Given the description of an element on the screen output the (x, y) to click on. 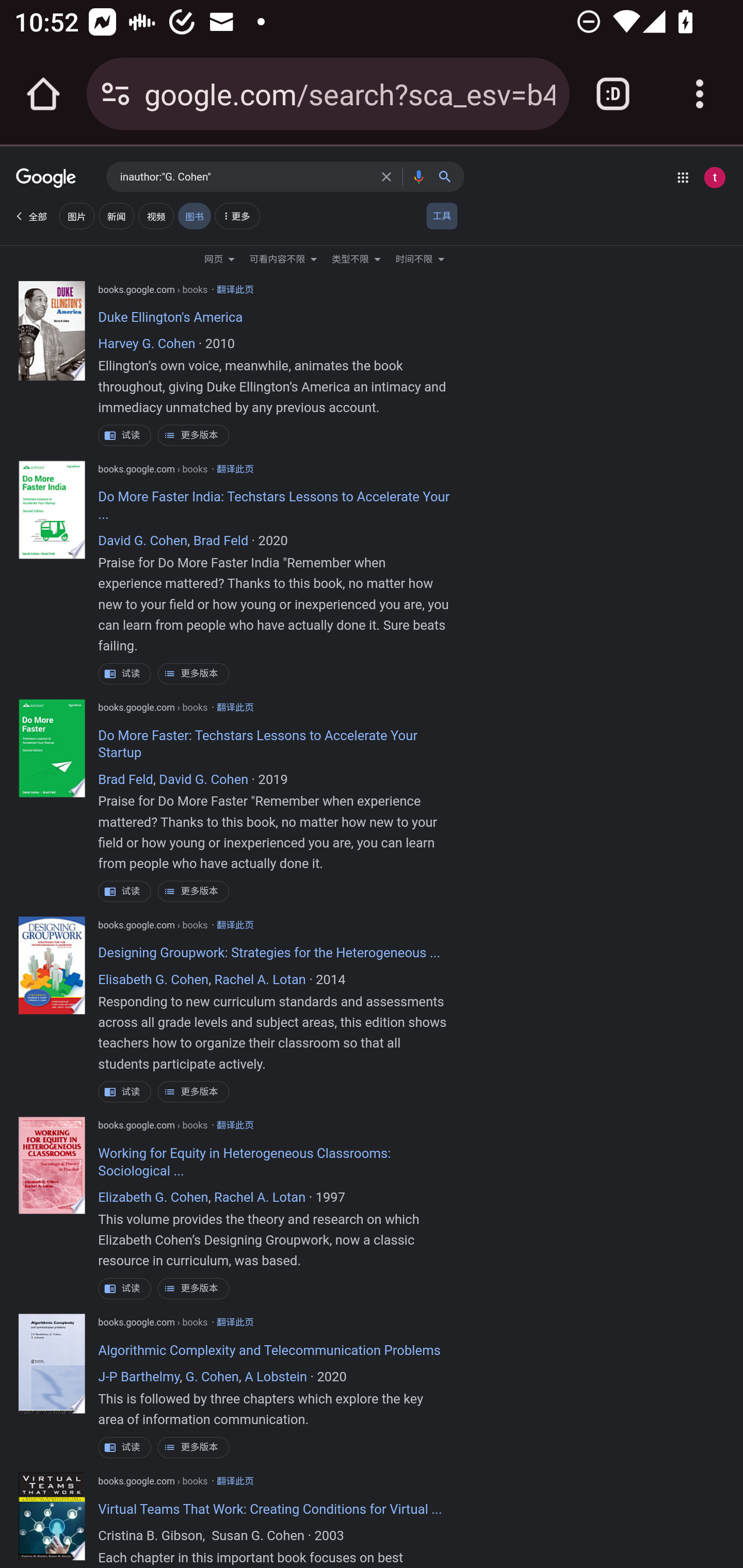
Open the home page (43, 93)
Connection is secure (115, 93)
Switch or close tabs (612, 93)
Customize and control Google Chrome (699, 93)
清除 (389, 176)
按语音搜索 (418, 176)
Google 搜索 (448, 176)
Google 应用 (682, 177)
Google 账号： test appium (testappium002@gmail.com) (714, 177)
Google Google Google (46, 179)
inauthor:"G. Cohen" (245, 177)
全部 (30, 215)
图片 (75, 215)
新闻 (116, 215)
视频 (155, 215)
More Filters (236, 217)
工具 (441, 215)
翻译此页 (235, 289)
Harvey G. Cohen (146, 344)
试读 (124, 434)
更多版本 (192, 434)
翻译此页 (235, 468)
David G. Cohen (142, 541)
Brad Feld (220, 541)
试读 (124, 673)
更多版本 (192, 673)
翻译此页 (235, 707)
Brad Feld (125, 780)
David G. Cohen (203, 780)
试读 (124, 892)
更多版本 (192, 892)
翻译此页 (235, 924)
Elisabeth G. Cohen (153, 980)
Rachel A. Lotan (259, 980)
试读 (124, 1091)
更多版本 (192, 1091)
翻译此页 (235, 1125)
Elizabeth G. Cohen (153, 1198)
Rachel A. Lotan (259, 1198)
试读 (124, 1287)
更多版本 (192, 1287)
翻译此页 (235, 1321)
J-P Barthelmy (138, 1378)
G. Cohen (212, 1378)
A Lobstein (274, 1378)
试读 (124, 1447)
更多版本 (192, 1447)
翻译此页 (235, 1481)
